Given the description of an element on the screen output the (x, y) to click on. 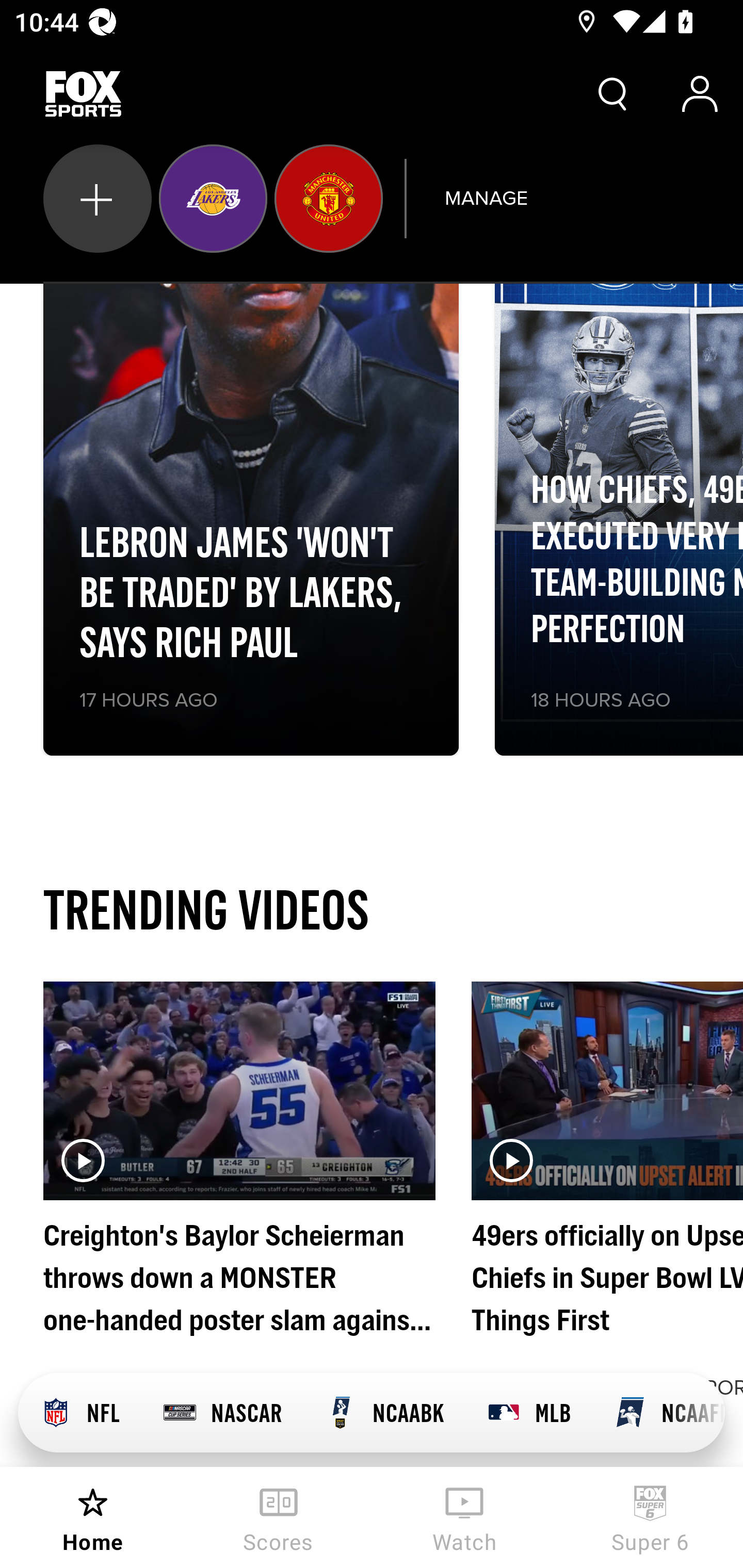
Search (612, 93)
Account (699, 93)
MANAGE (485, 198)
NASCAR (222, 1412)
NCAABK (384, 1412)
MLB (528, 1412)
NCAAFB (658, 1412)
Scores (278, 1517)
Watch (464, 1517)
Super 6 (650, 1517)
